Given the description of an element on the screen output the (x, y) to click on. 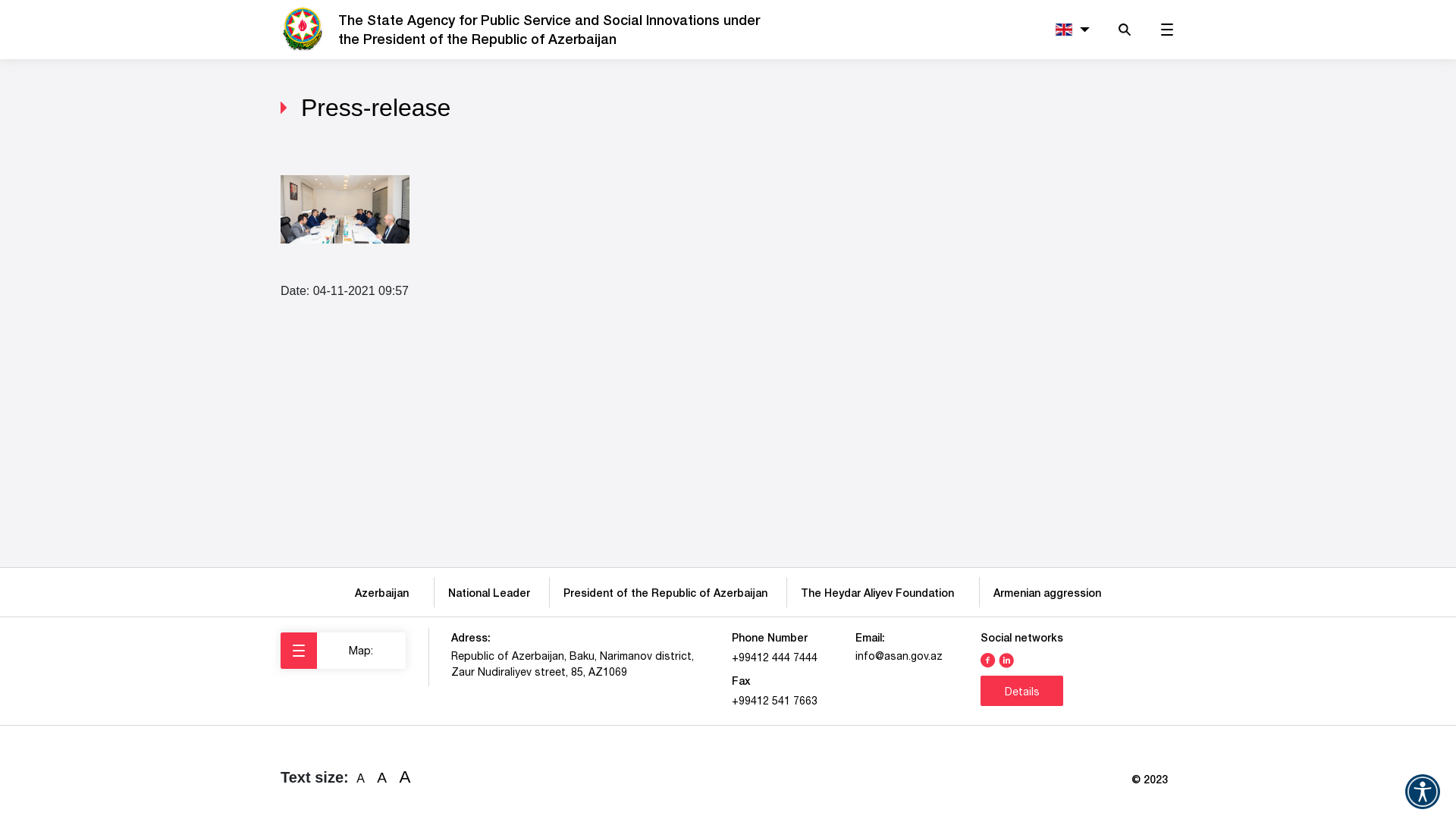
A Element type: text (360, 778)
The Heydar Aliyev Foundation   Element type: text (880, 592)
National Leader Element type: text (489, 592)
Map: Element type: text (342, 650)
facebook Element type: hover (987, 658)
Azerbaijan   Element type: text (384, 592)
President of the Republic of Azerbaijan Element type: text (665, 592)
Armenian aggression Element type: text (1047, 592)
Details Element type: text (1021, 690)
A Element type: text (381, 778)
A Element type: text (405, 776)
+99412 444 7444 Element type: text (774, 657)
linkedin Element type: hover (1005, 658)
English Element type: hover (1069, 29)
+99412 541 7663 Element type: text (774, 700)
